Given the description of an element on the screen output the (x, y) to click on. 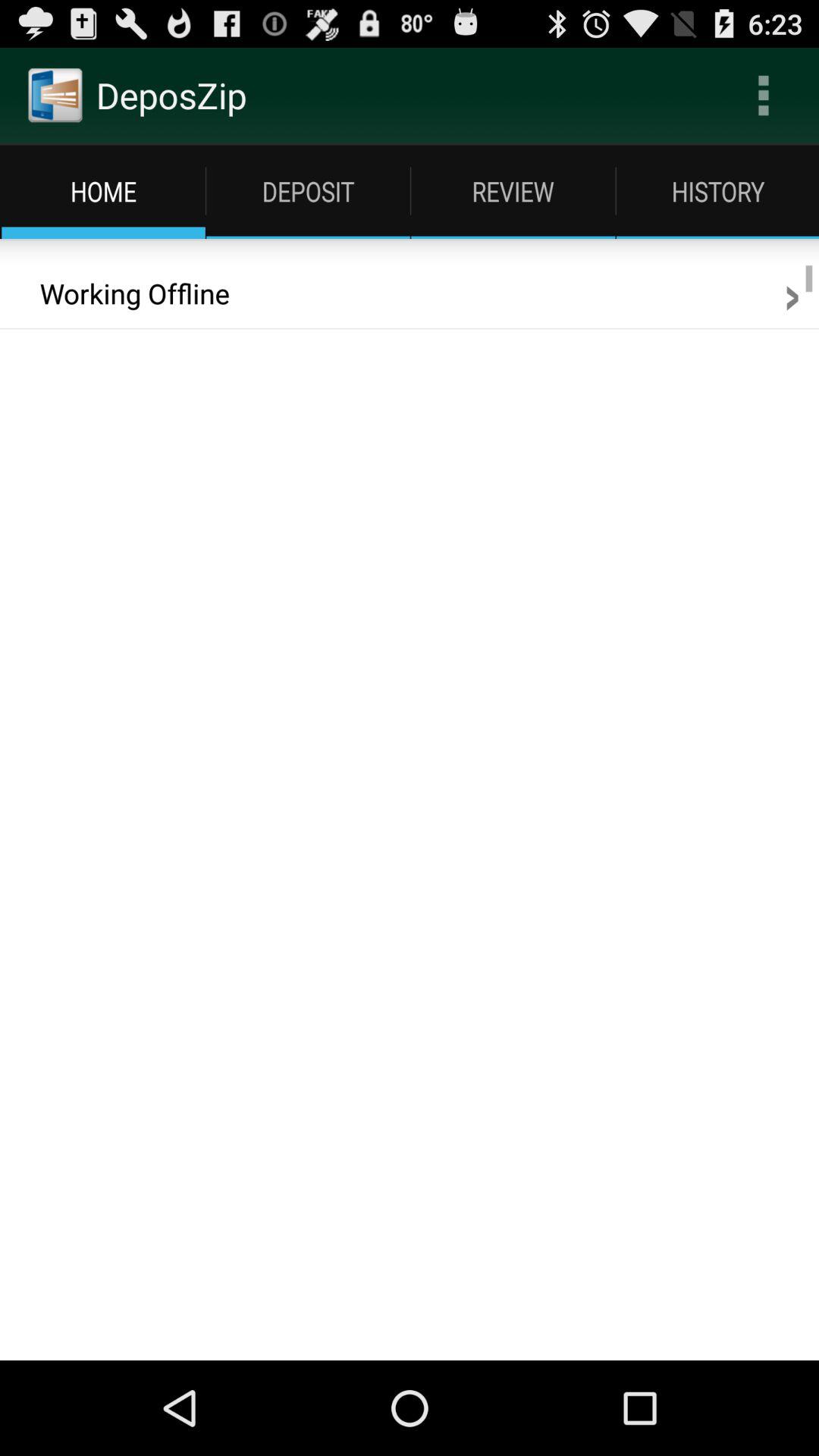
choose item below the history (792, 293)
